Given the description of an element on the screen output the (x, y) to click on. 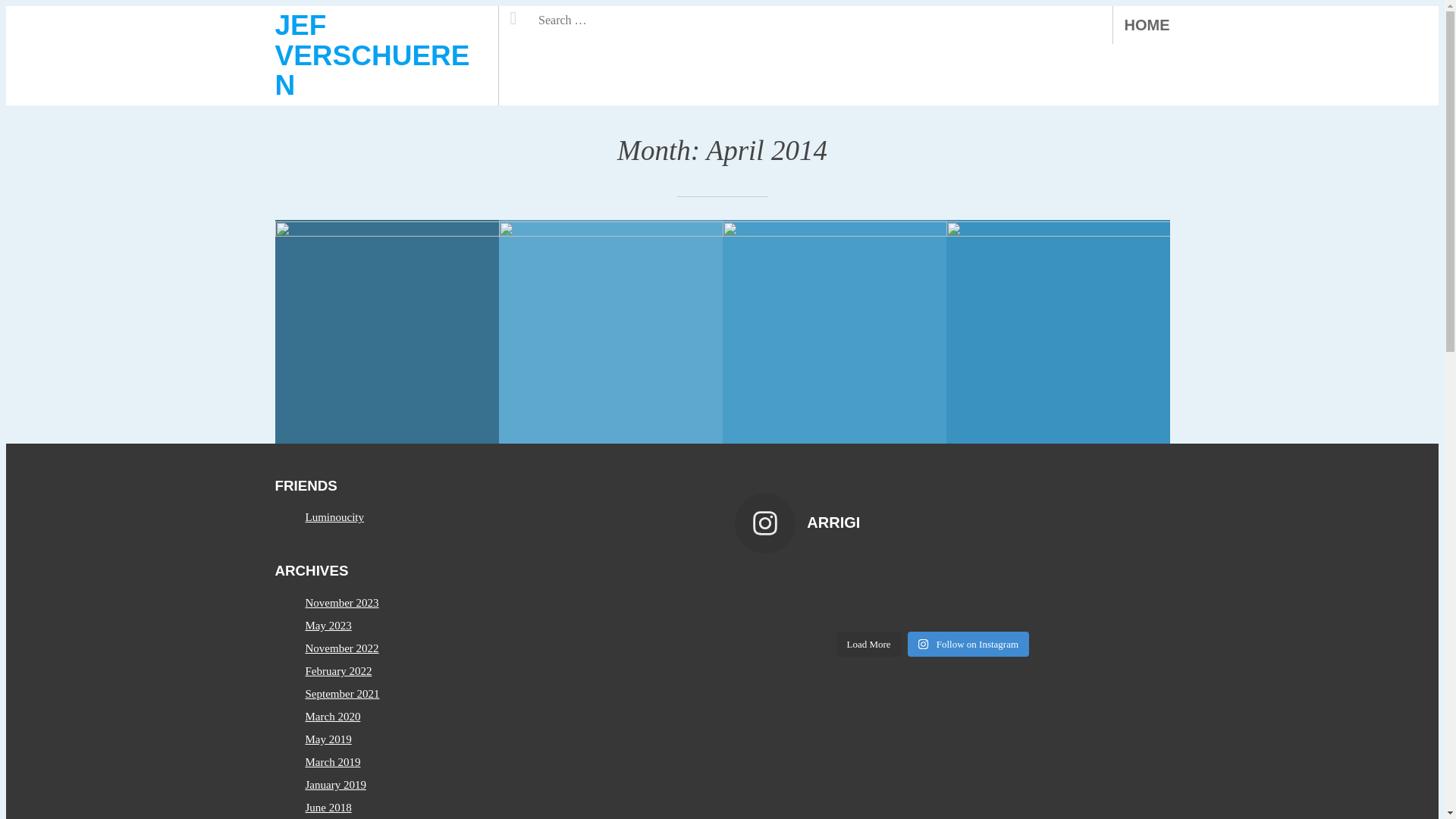
Saara, Helsinki, Huhtikuu/April 2014 Element type: hover (1058, 331)
February 2022 Element type: text (337, 671)
May 2023 Element type: text (327, 625)
ARRIGI Element type: text (931, 522)
June 2018 Element type: text (327, 807)
Nora, Gent, April 2014 Element type: hover (386, 331)
March 2019 Element type: text (332, 762)
November 2022 Element type: text (341, 648)
Beirut, April 2014 Element type: hover (833, 331)
November 2023 Element type: text (341, 602)
Luminoucity Element type: text (334, 517)
HOME Element type: text (1146, 24)
Search Element type: text (537, 14)
Follow on Instagram Element type: text (968, 644)
JEF VERSCHUEREN Element type: text (371, 54)
September 2021 Element type: text (341, 693)
March 2020 Element type: text (332, 716)
Load More Element type: text (867, 644)
January 2019 Element type: text (334, 784)
Thierry, Zottegem, April 2014 Element type: hover (610, 331)
May 2019 Element type: text (327, 739)
